Given the description of an element on the screen output the (x, y) to click on. 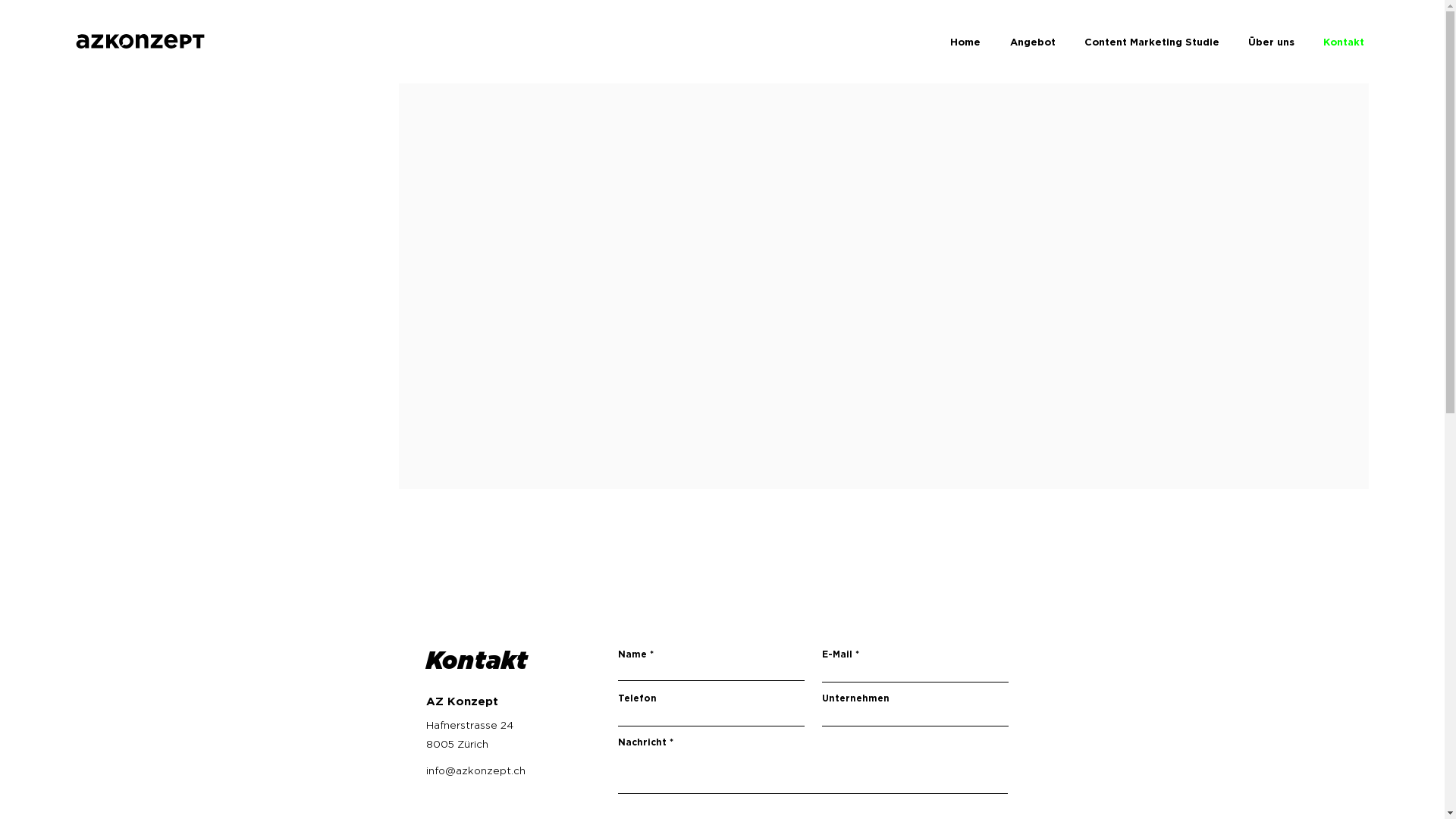
info@azkonzept.ch Element type: text (475, 770)
Angebot Element type: text (1032, 41)
Home Element type: text (964, 41)
Kontakt Element type: text (1343, 41)
